Given the description of an element on the screen output the (x, y) to click on. 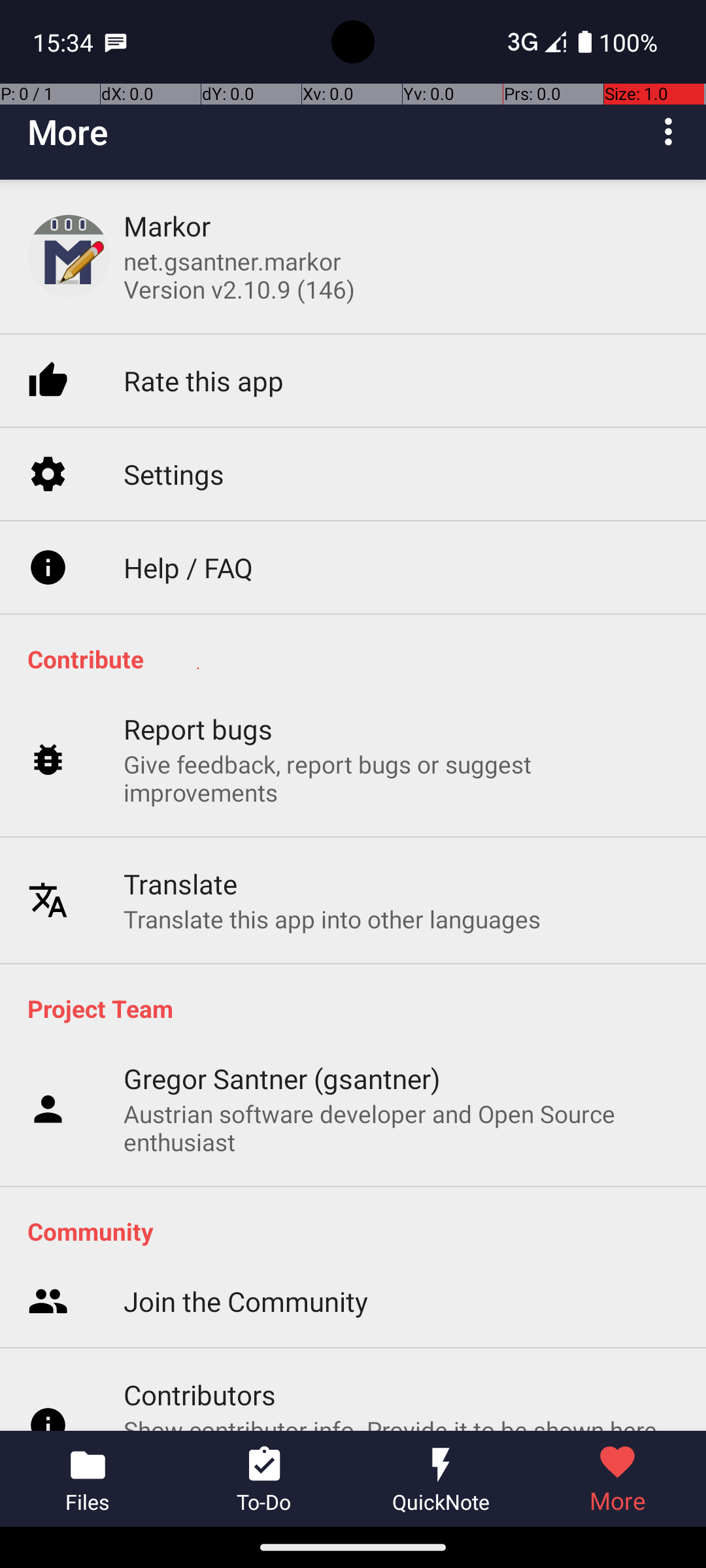
Project Team Element type: android.widget.TextView (359, 1008)
Community Element type: android.widget.TextView (359, 1230)
Gregor Santner (gsantner) Element type: android.widget.TextView (281, 1077)
Austrian software developer and Open Source enthusiast Element type: android.widget.TextView (400, 1127)
Join the Community Element type: android.widget.TextView (245, 1098)
Show contributor info. Provide it to be shown here on an opt-in basis after contributing Element type: android.widget.TextView (400, 1239)
